Given the description of an element on the screen output the (x, y) to click on. 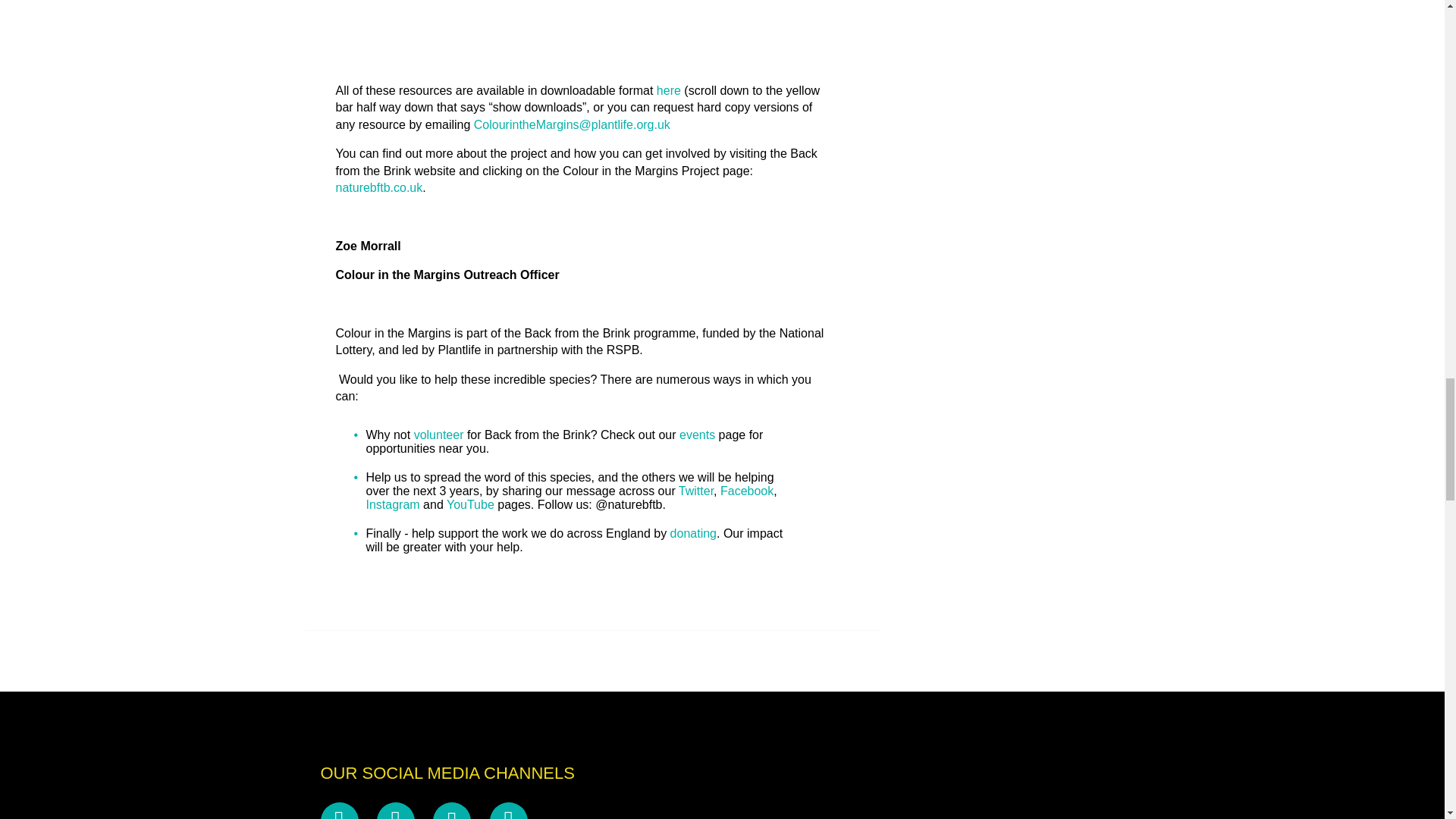
Instagram (392, 504)
YouTube (471, 504)
Twitter (695, 490)
here (668, 90)
volunteer (438, 434)
naturebftb.co.uk (378, 187)
Facebook (746, 490)
events (696, 434)
donating (692, 533)
